Given the description of an element on the screen output the (x, y) to click on. 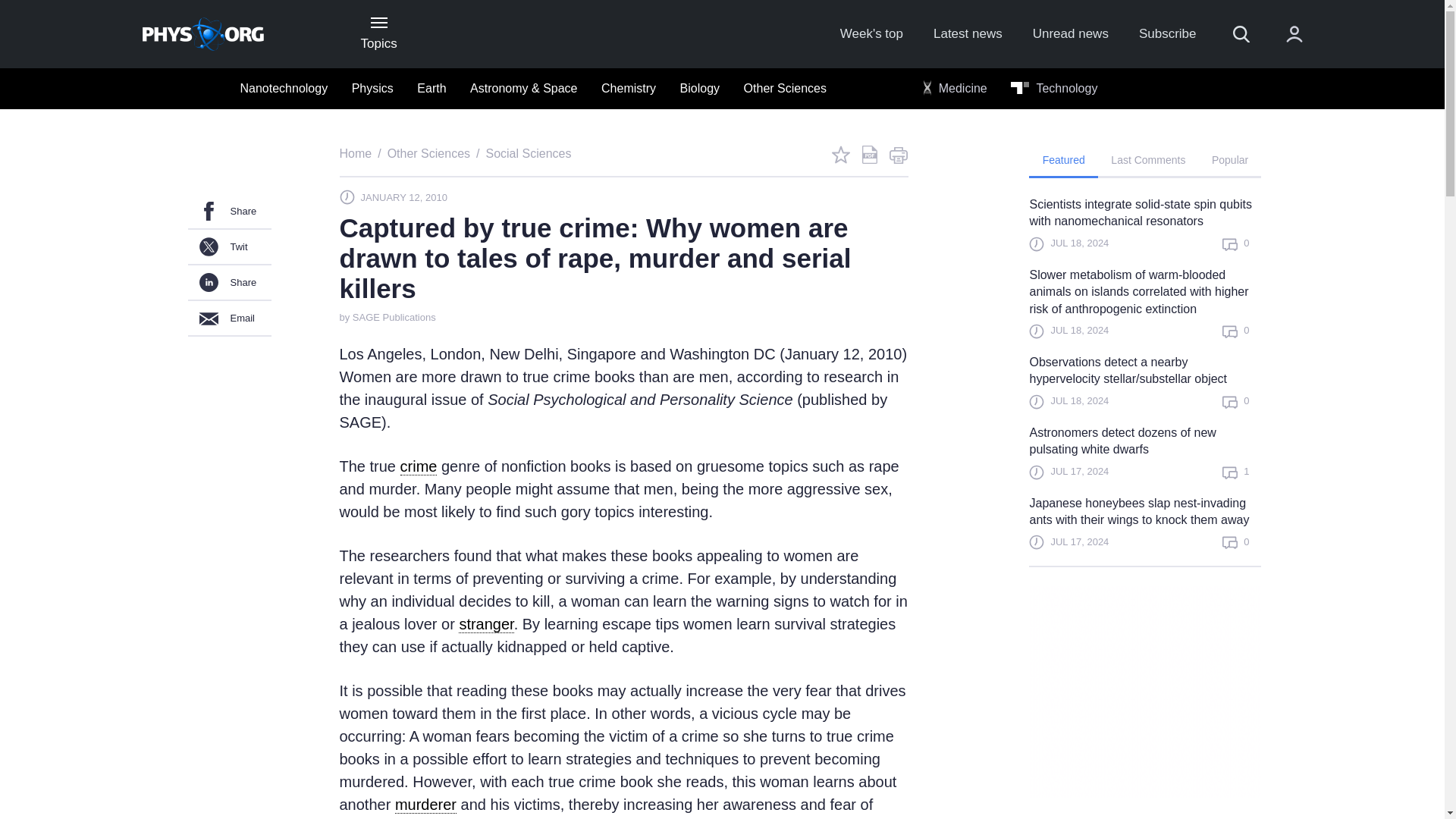
Physics (372, 88)
Earth (430, 88)
3rd party ad content (1156, 691)
Social Sciences (527, 153)
Subscribe (1167, 34)
crime (419, 466)
Print (898, 154)
Week's top (871, 34)
Unread news (1070, 34)
Technology (1054, 88)
murderer (425, 805)
Save as pdf file (869, 154)
Biology (699, 88)
Medicine (954, 88)
Chemistry (628, 88)
